Given the description of an element on the screen output the (x, y) to click on. 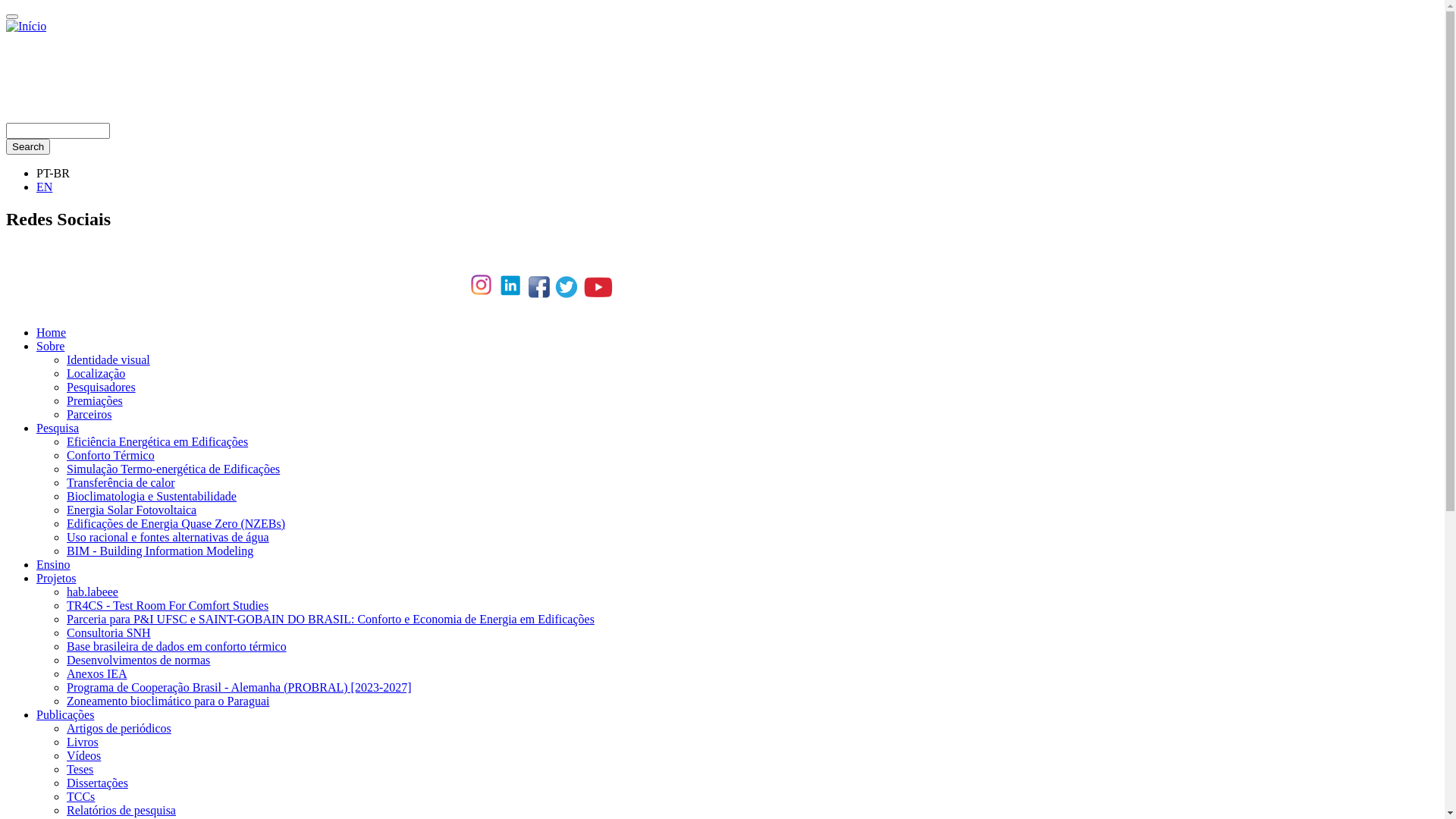
Identidade visual Element type: text (108, 359)
TR4CS - Test Room For Comfort Studies Element type: text (167, 605)
Desenvolvimentos de normas Element type: text (138, 659)
Parceiros Element type: text (89, 413)
hab.labeee Element type: text (92, 591)
Projetos Element type: text (55, 577)
Search Element type: text (28, 146)
Home Element type: text (50, 332)
Pesquisadores Element type: text (100, 386)
EN Element type: text (44, 186)
Ensino Element type: text (52, 564)
Teses Element type: text (79, 768)
Livros Element type: text (82, 741)
Energia Solar Fotovoltaica Element type: text (131, 509)
Sobre Element type: text (50, 345)
Consultoria SNH Element type: text (108, 632)
Pesquisa Element type: text (57, 427)
Bioclimatologia e Sustentabilidade Element type: text (151, 495)
BIM - Building Information Modeling Element type: text (159, 550)
Anexos IEA Element type: text (96, 673)
TCCs Element type: text (80, 796)
